Given the description of an element on the screen output the (x, y) to click on. 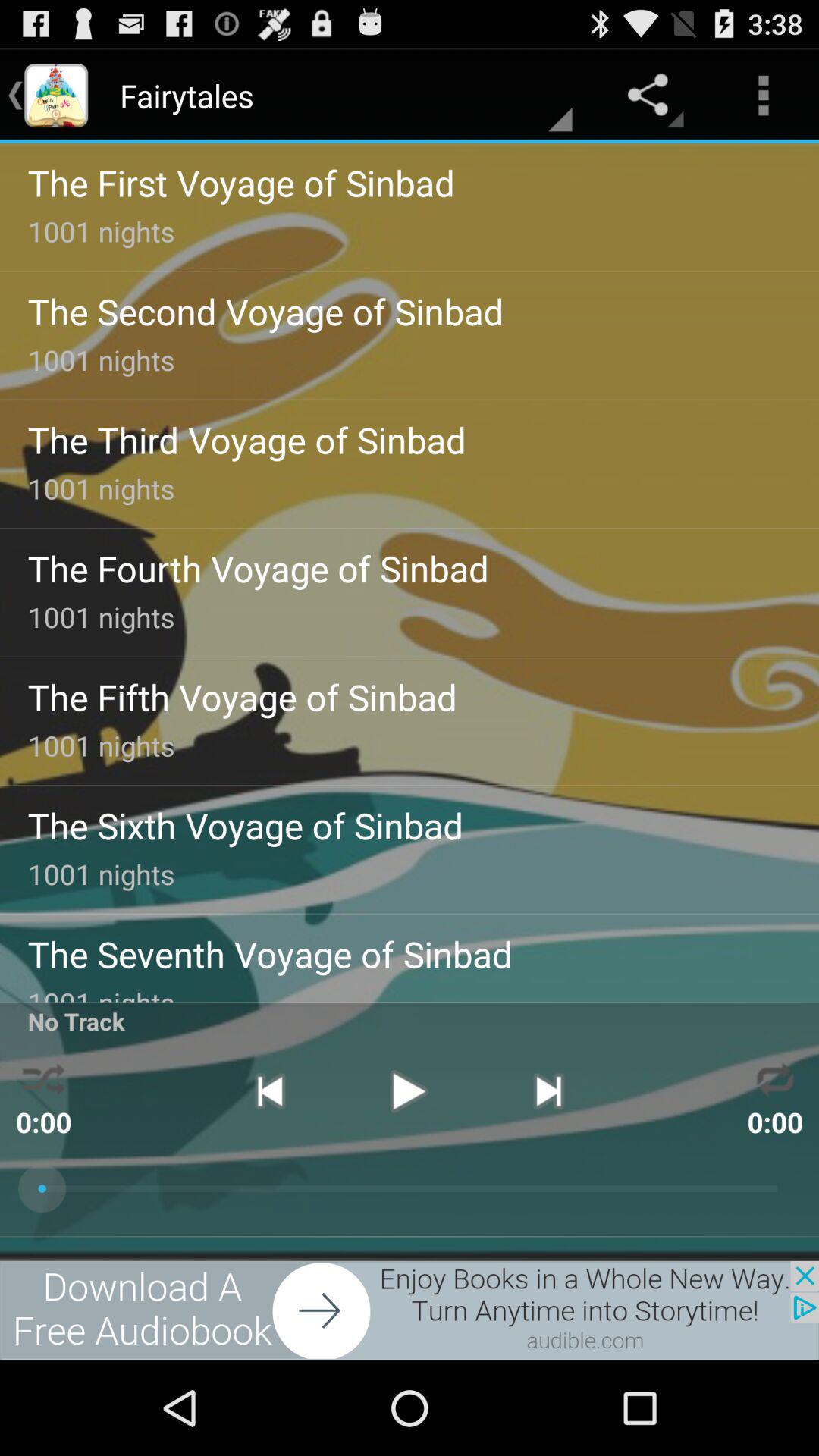
open advertisement (409, 1310)
